Given the description of an element on the screen output the (x, y) to click on. 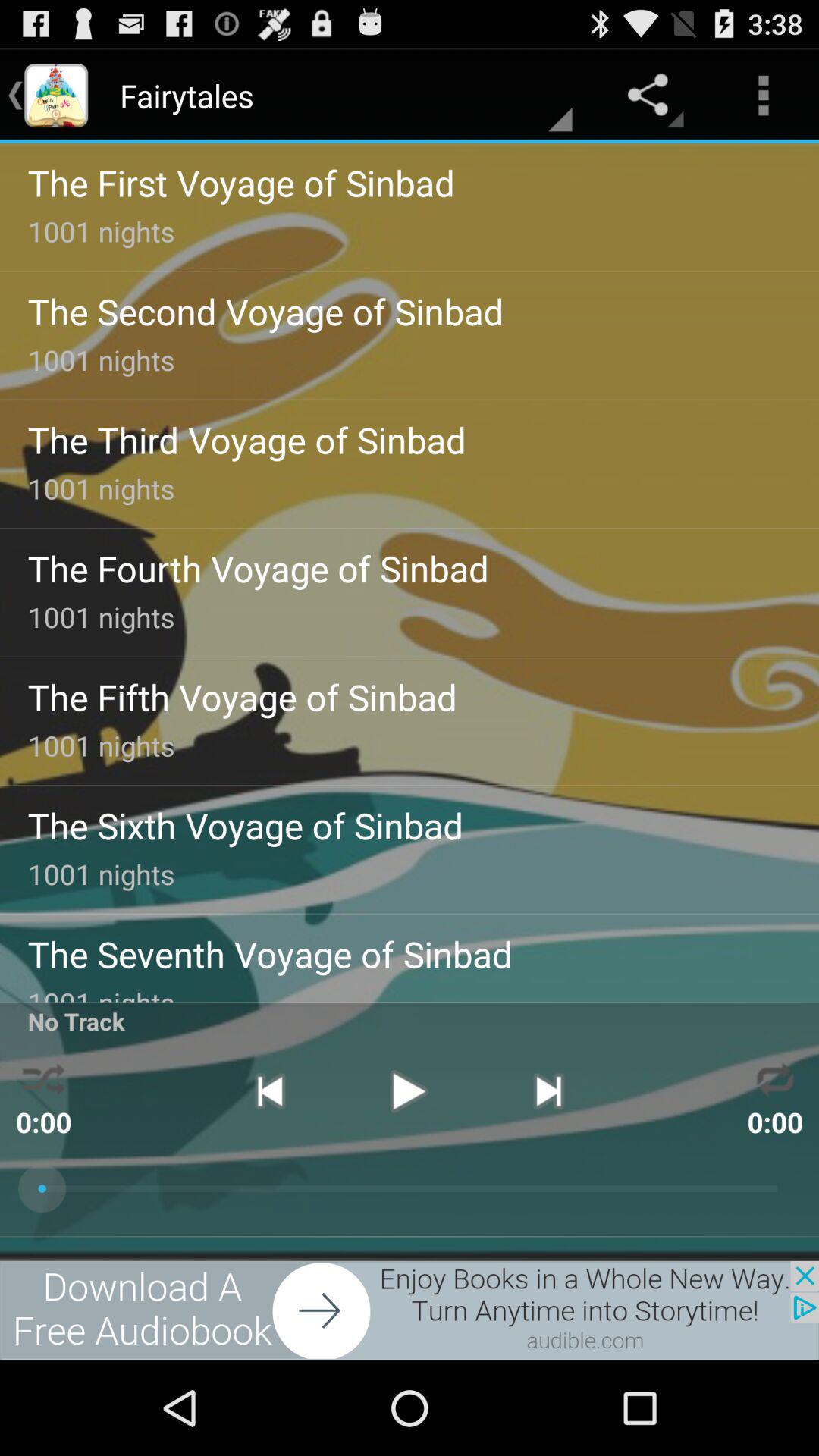
open advertisement (409, 1310)
